Given the description of an element on the screen output the (x, y) to click on. 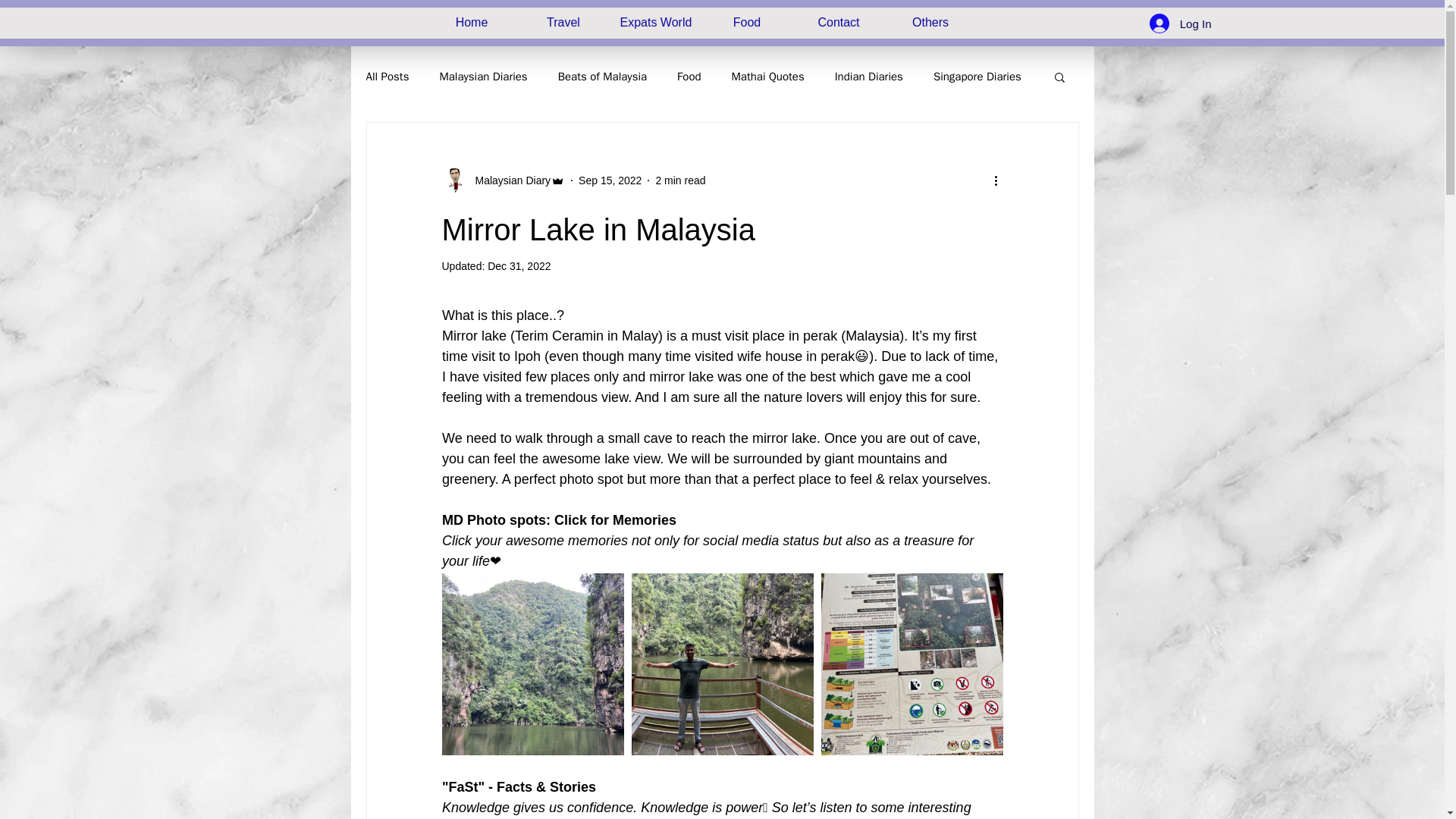
Sep 15, 2022 (610, 180)
All Posts (387, 76)
Food (746, 21)
Food (688, 76)
Malaysian Diary (502, 180)
Mathai Quotes (768, 76)
2 min read (679, 180)
Malaysian Diary (507, 180)
Contact (839, 21)
Home (472, 21)
